Given the description of an element on the screen output the (x, y) to click on. 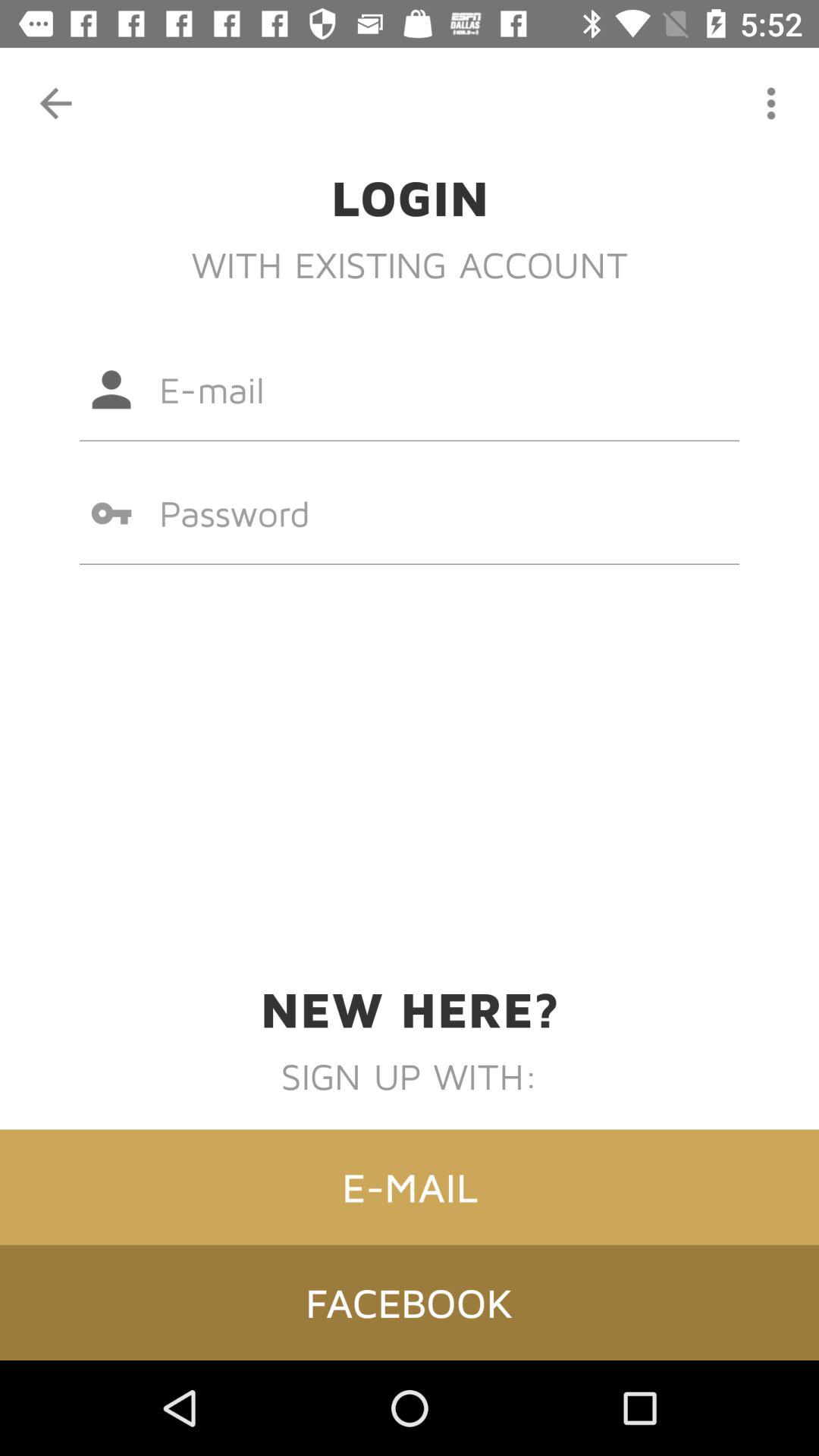
press item at the top left corner (55, 103)
